Given the description of an element on the screen output the (x, y) to click on. 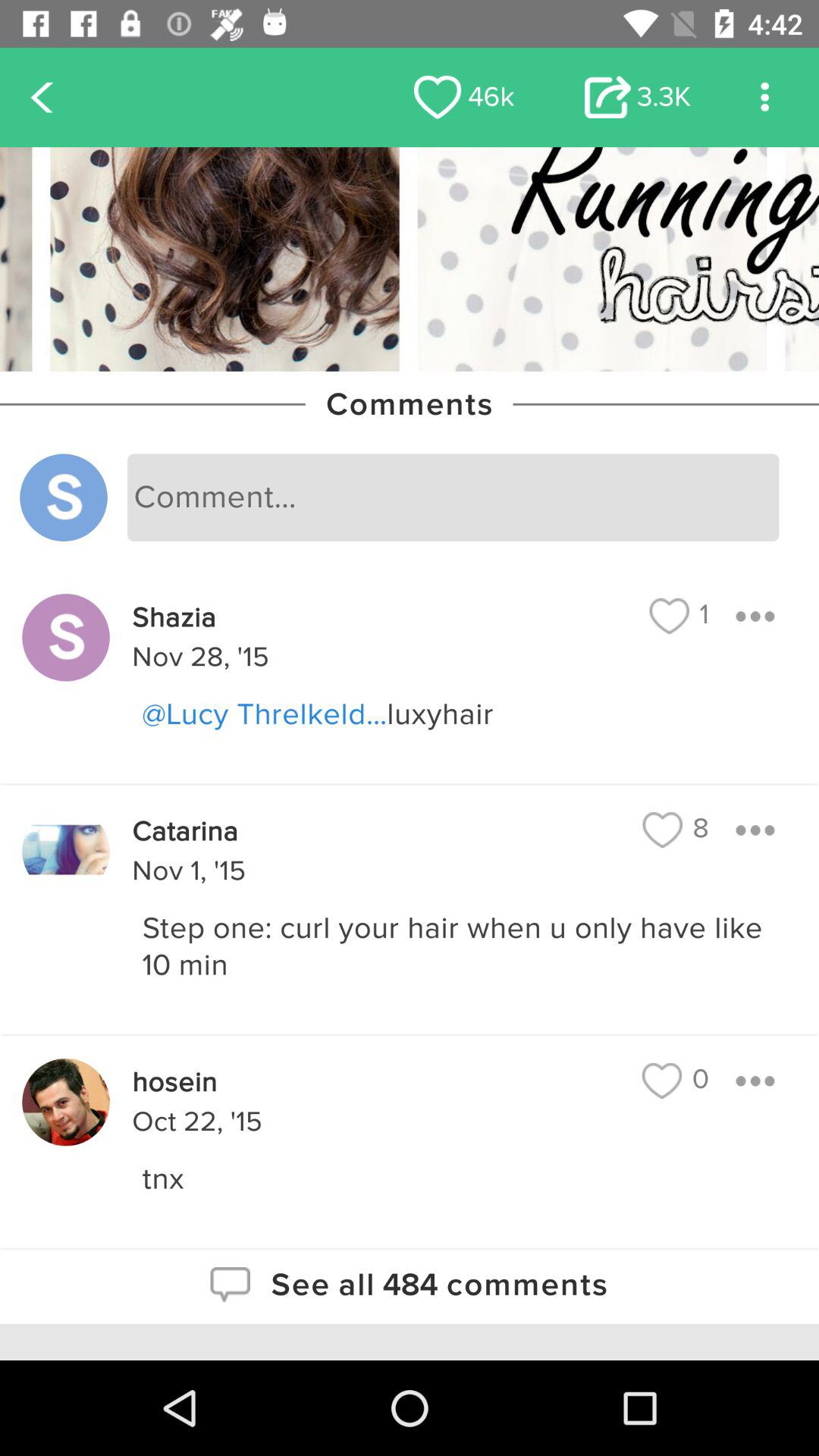
press the icon below nov 28, '15 icon (465, 714)
